Given the description of an element on the screen output the (x, y) to click on. 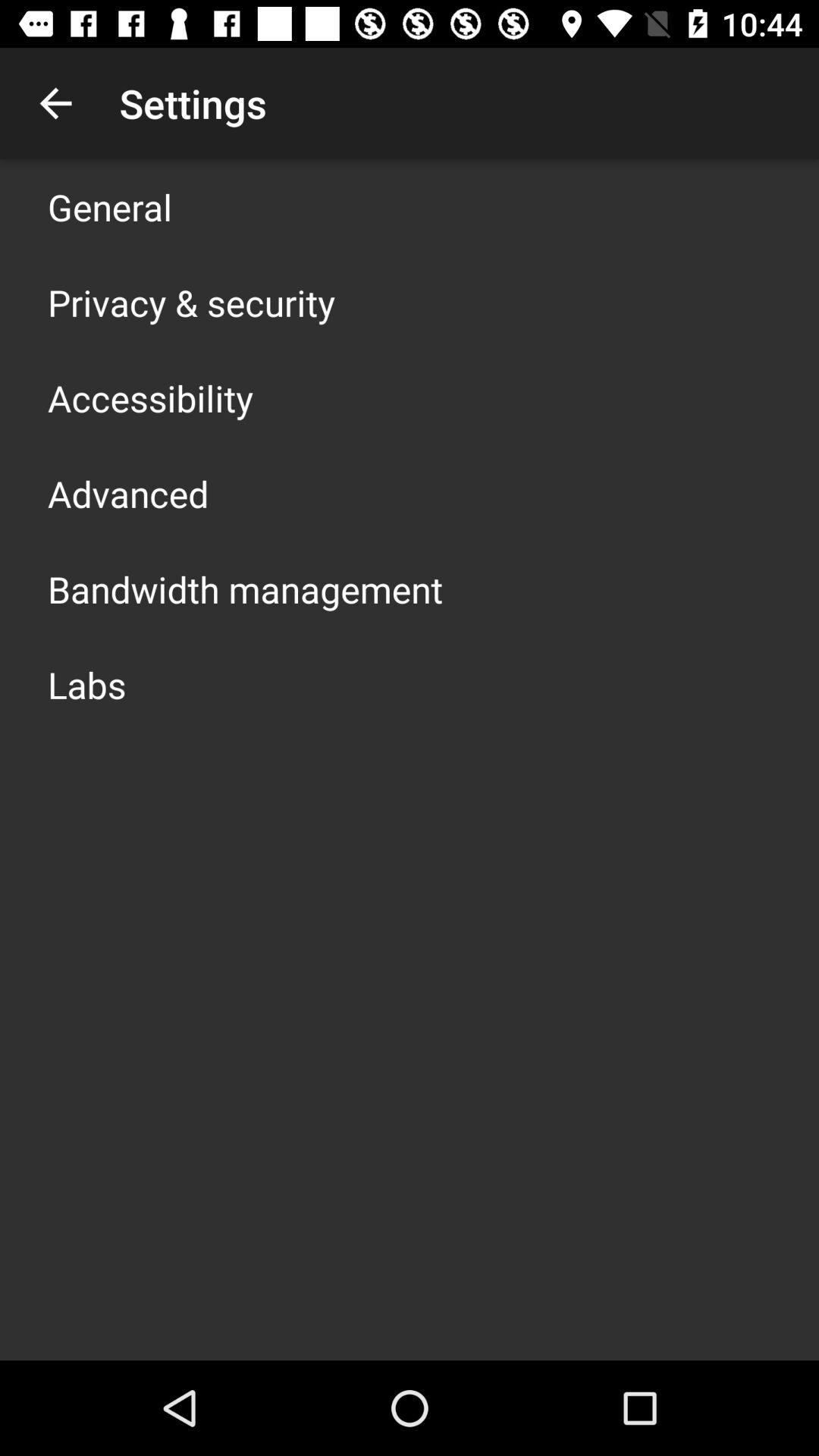
open the app above the labs (245, 588)
